Given the description of an element on the screen output the (x, y) to click on. 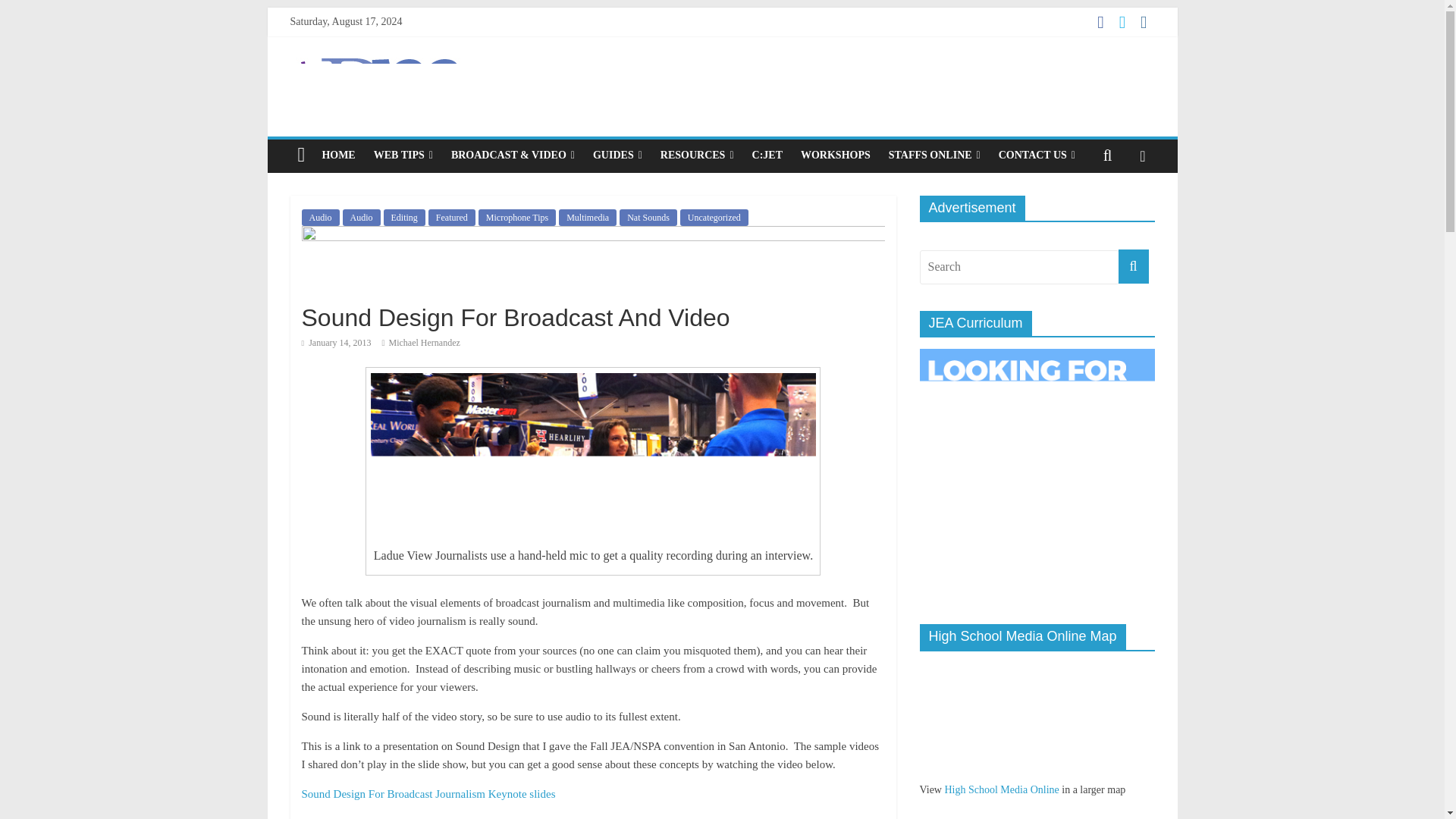
RESOURCES (696, 155)
HOME (338, 155)
11:15 am (336, 342)
Michael Hernandez (424, 342)
GUIDES (616, 155)
WEB TIPS (403, 155)
